Given the description of an element on the screen output the (x, y) to click on. 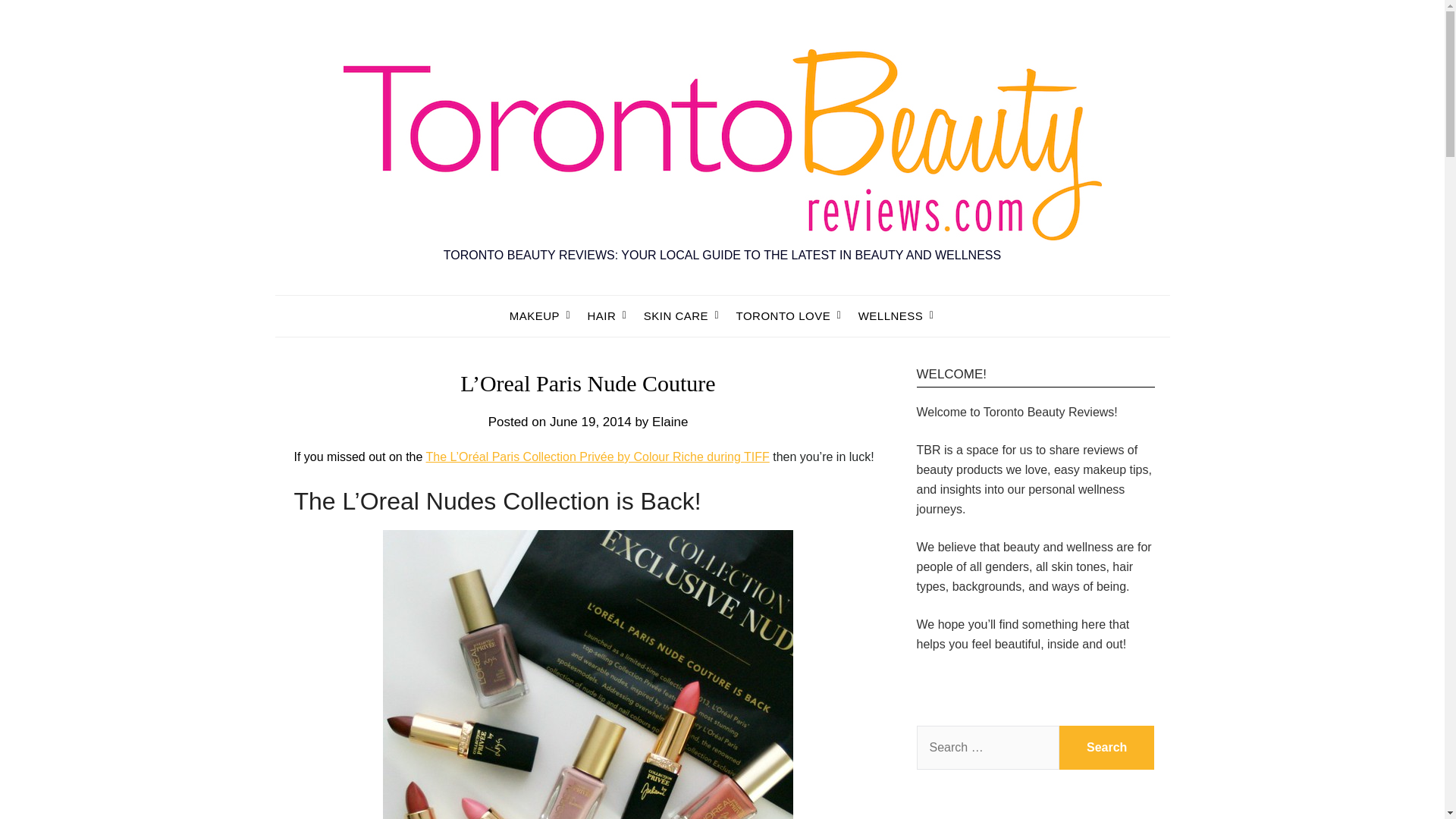
HAIR (601, 315)
Search (1106, 747)
June 19, 2014 (590, 421)
SKIN CARE (675, 315)
Elaine (669, 421)
WELLNESS (890, 315)
TORONTO LOVE (783, 315)
MAKEUP (540, 315)
Search (1106, 747)
